Given the description of an element on the screen output the (x, y) to click on. 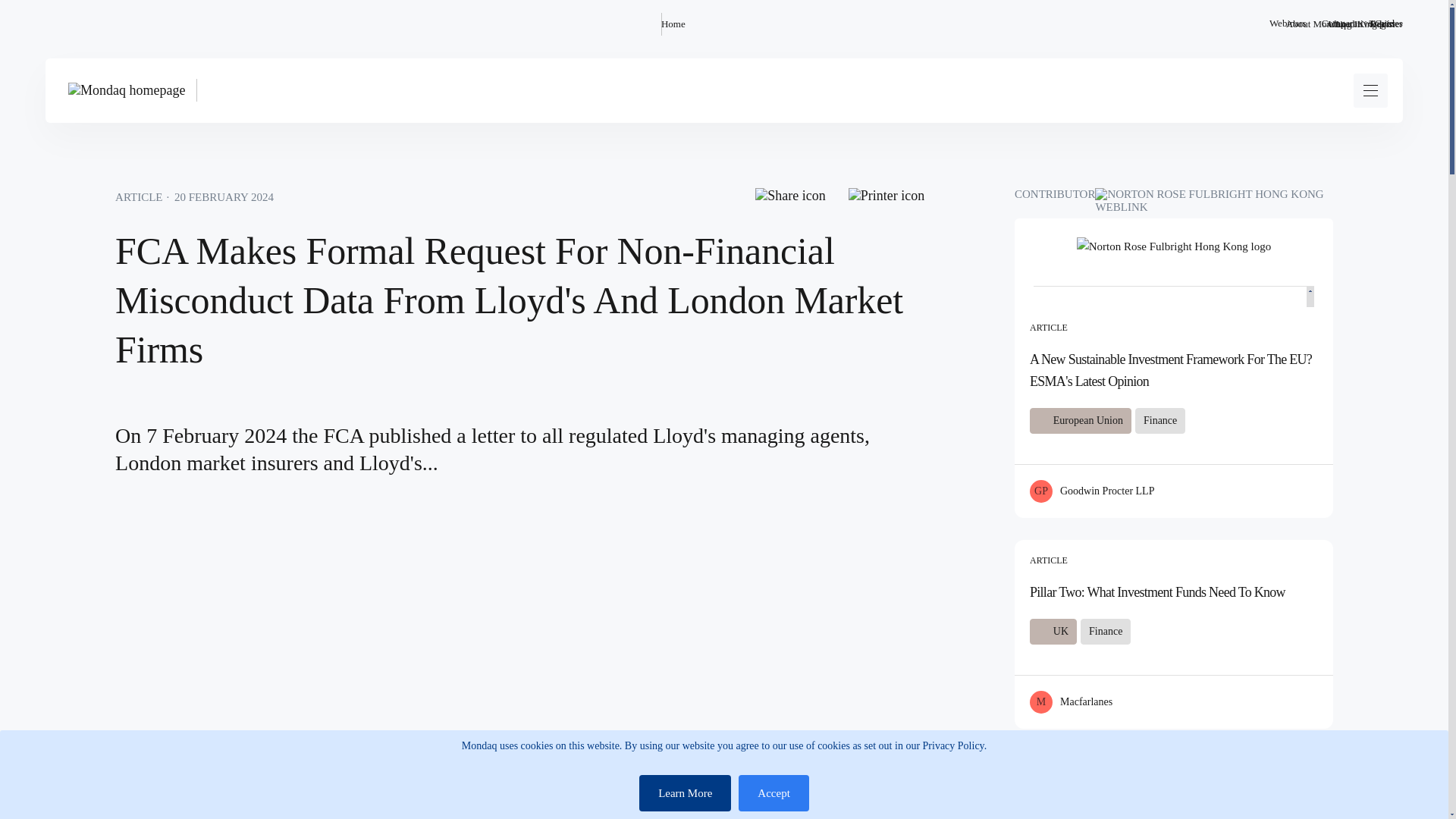
Comparative Guides (1362, 23)
Webinars (1287, 23)
About Mondaq (1315, 24)
Home (673, 24)
